Given the description of an element on the screen output the (x, y) to click on. 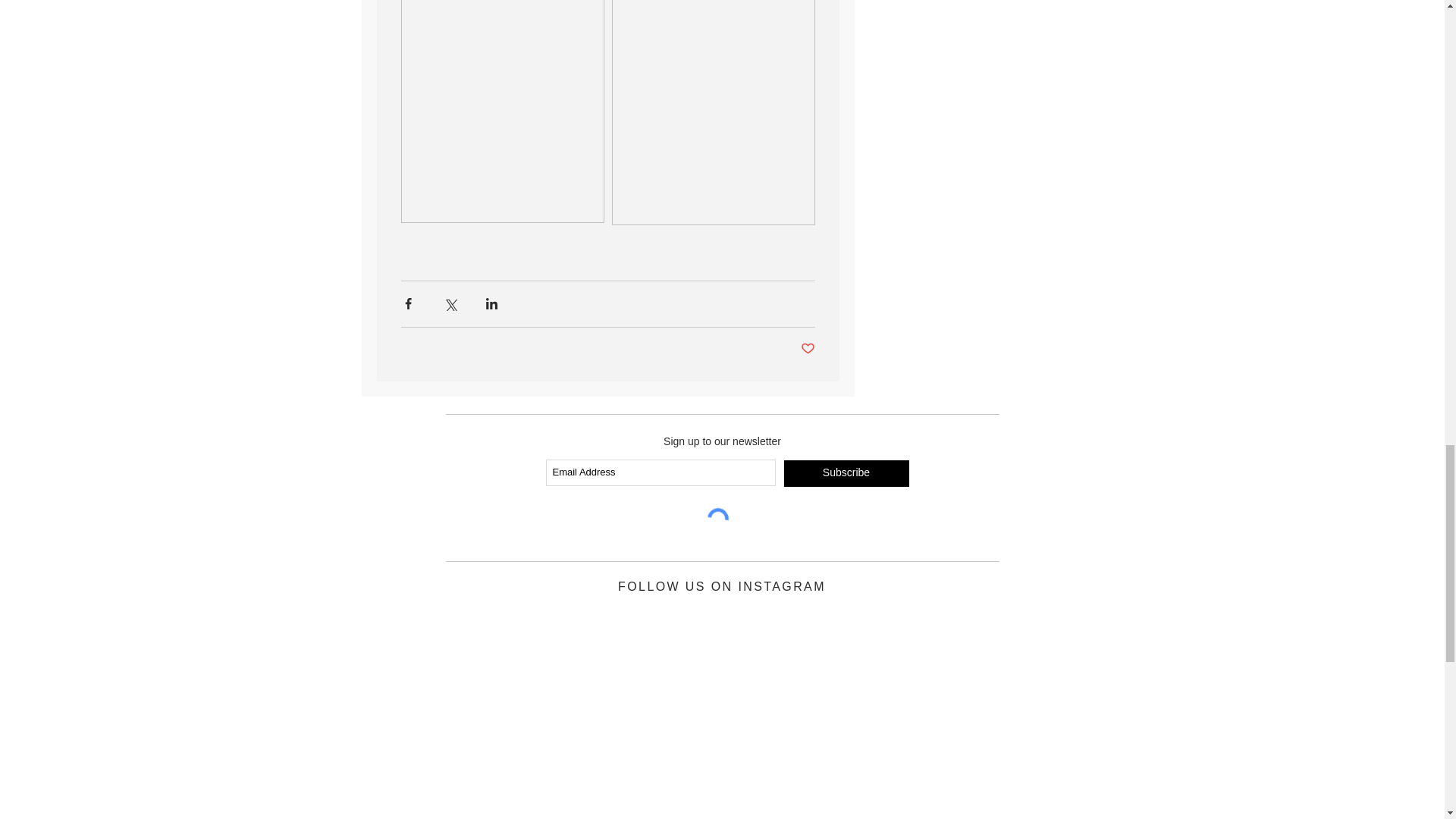
Post not marked as liked (807, 349)
